Given the description of an element on the screen output the (x, y) to click on. 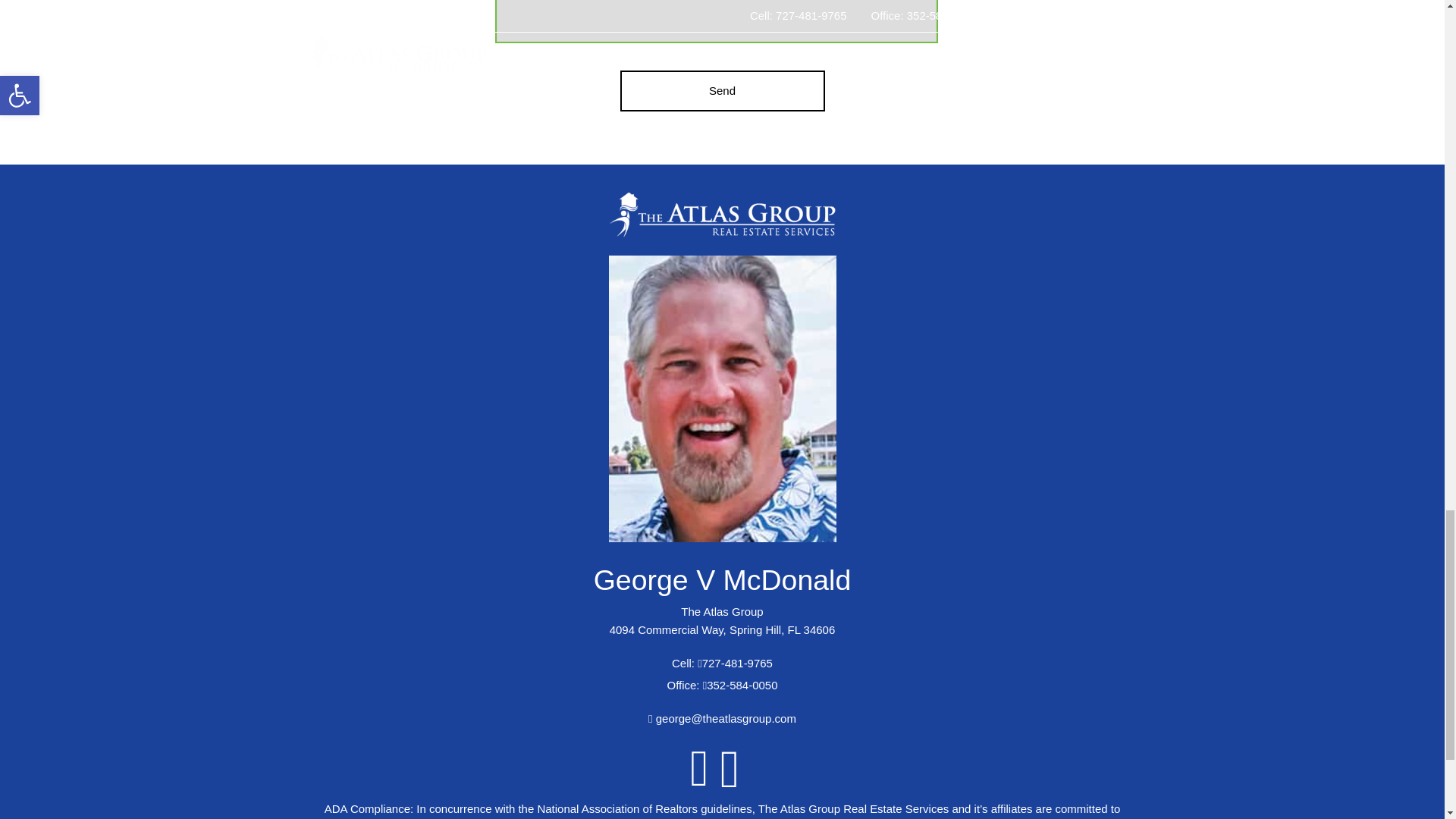
Send (722, 90)
